Given the description of an element on the screen output the (x, y) to click on. 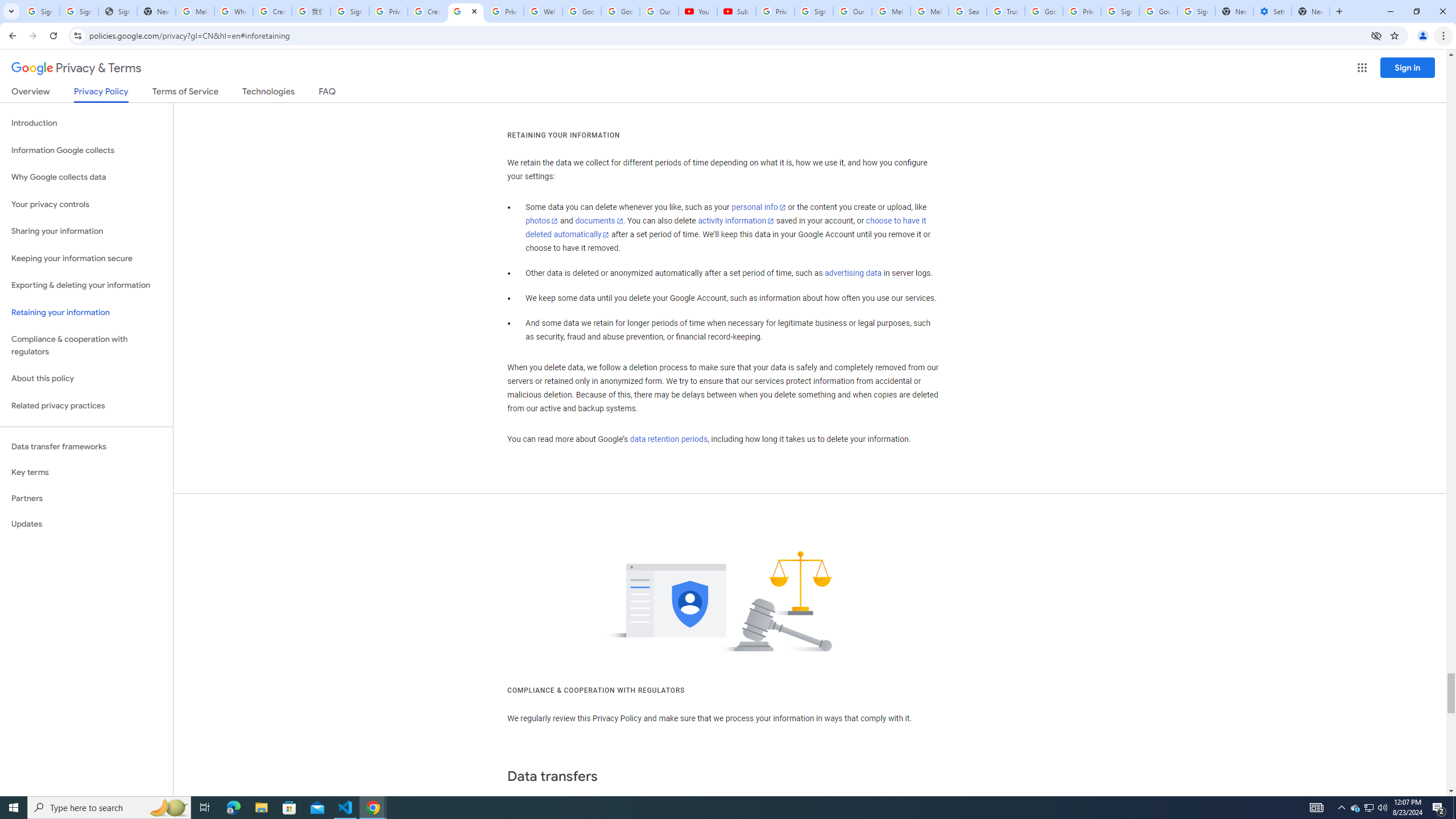
Google Account (620, 11)
New Tab (1311, 11)
Key terms (86, 472)
Create your Google Account (427, 11)
About this policy (86, 379)
Privacy & Terms (76, 68)
Keeping your information secure (86, 258)
Trusted Information and Content - Google Safety Center (1005, 11)
